Given the description of an element on the screen output the (x, y) to click on. 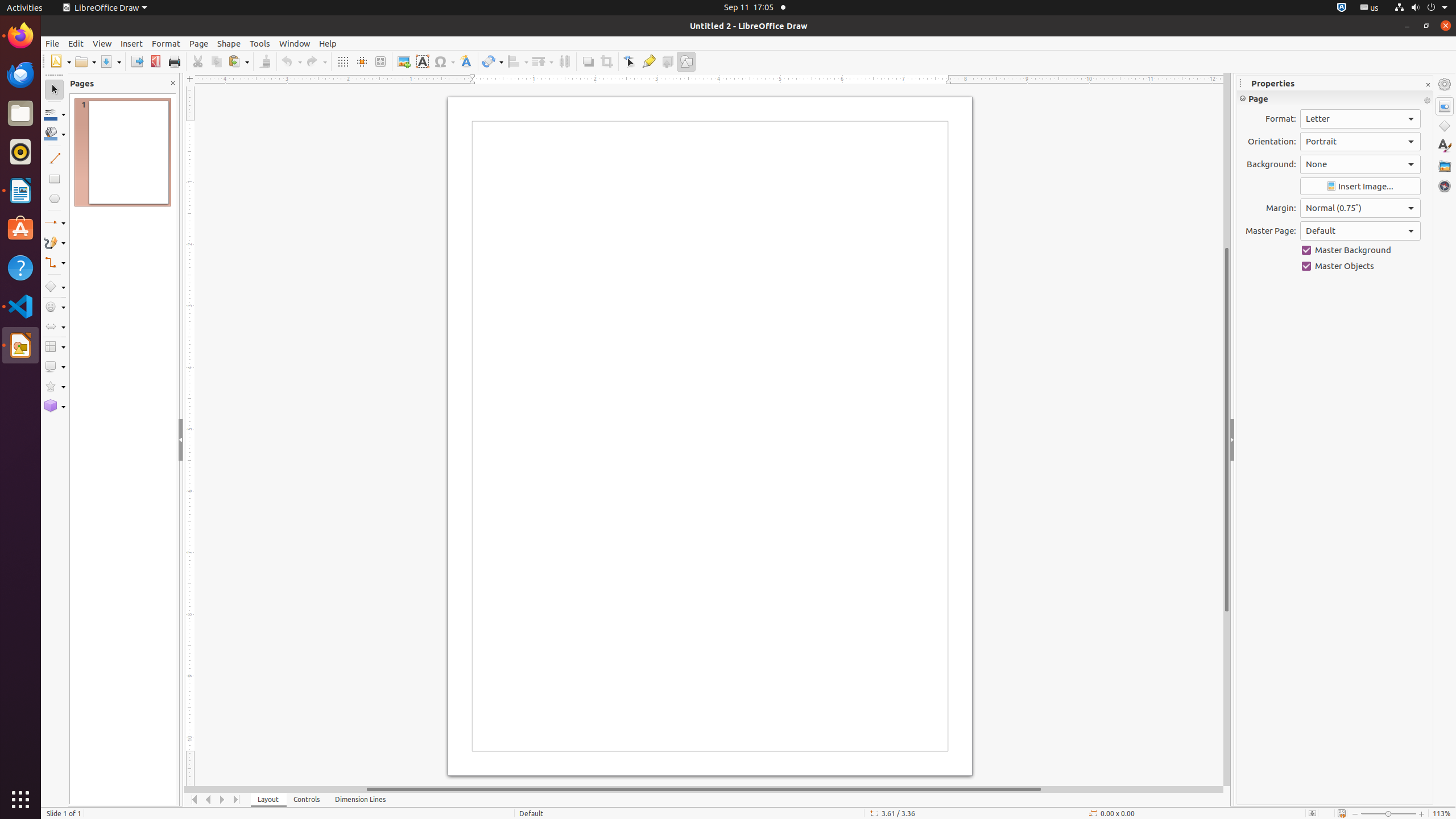
Format Element type: menu (165, 43)
Move Left Element type: push-button (208, 799)
Fontwork Style Element type: toggle-button (465, 61)
Line Color Element type: push-button (54, 113)
Rectangle Element type: push-button (53, 178)
